Given the description of an element on the screen output the (x, y) to click on. 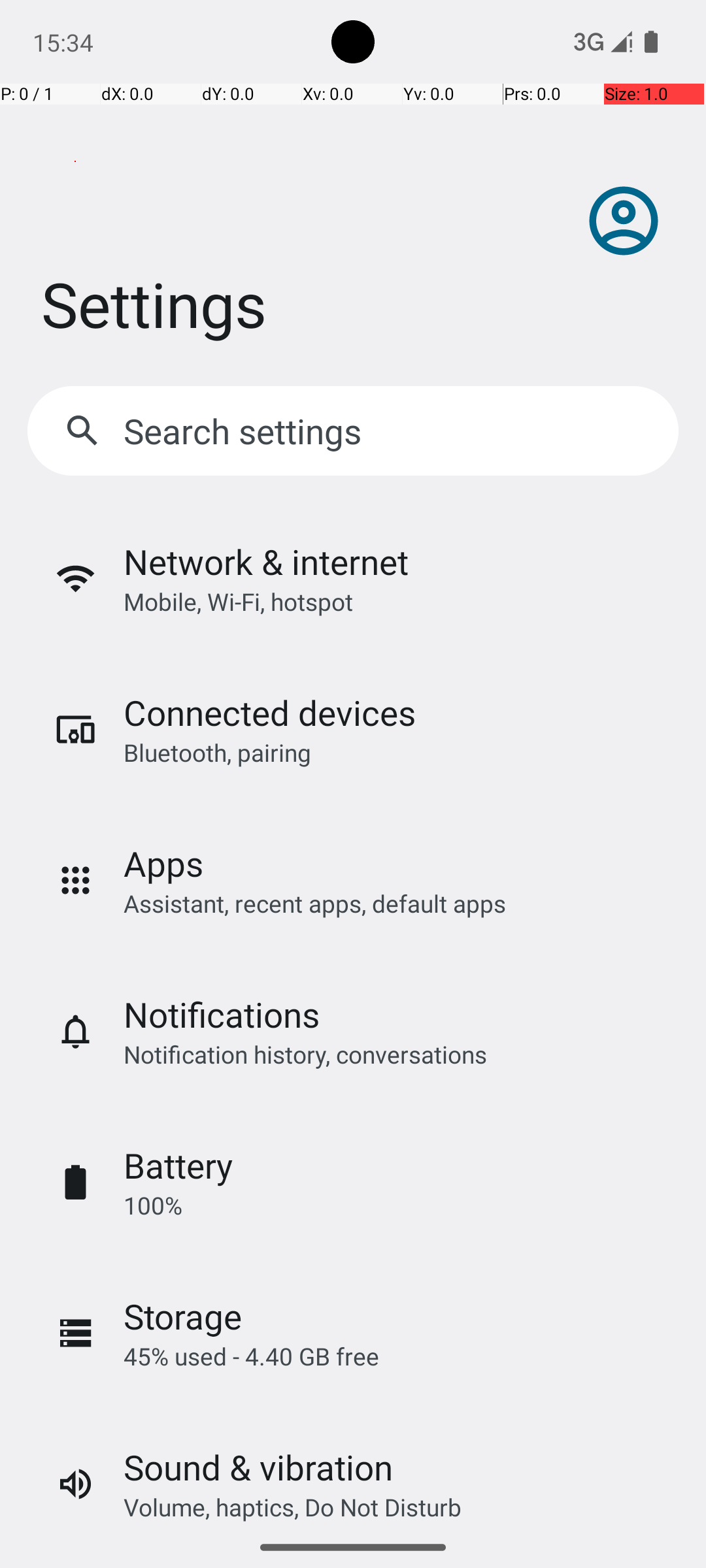
45% used - 4.40 GB free Element type: android.widget.TextView (251, 1355)
